Given the description of an element on the screen output the (x, y) to click on. 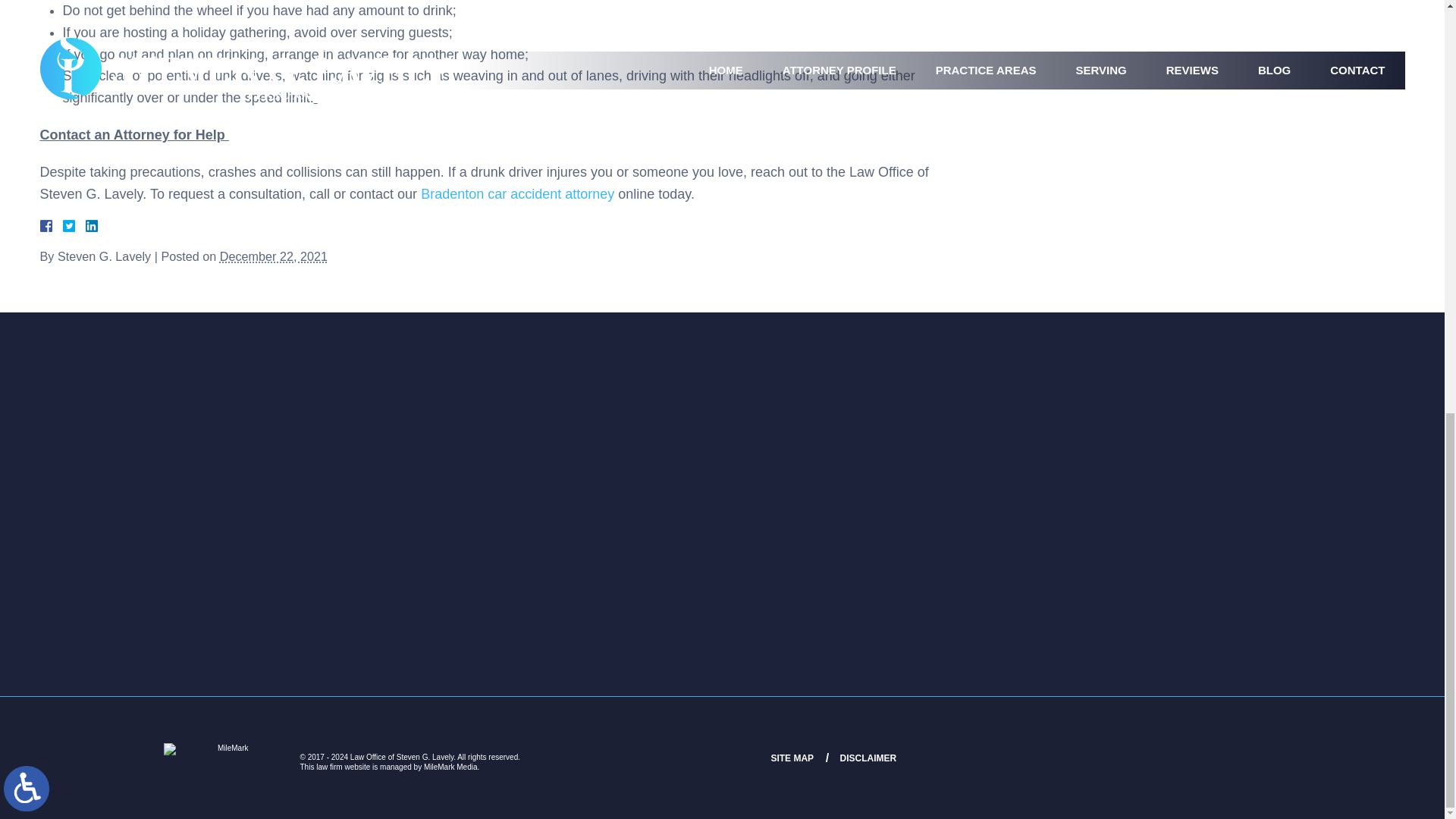
MileMark Media (226, 755)
Bradenton car accident attorney (517, 193)
2021-12-22T09:53:43-0800 (273, 255)
